Given the description of an element on the screen output the (x, y) to click on. 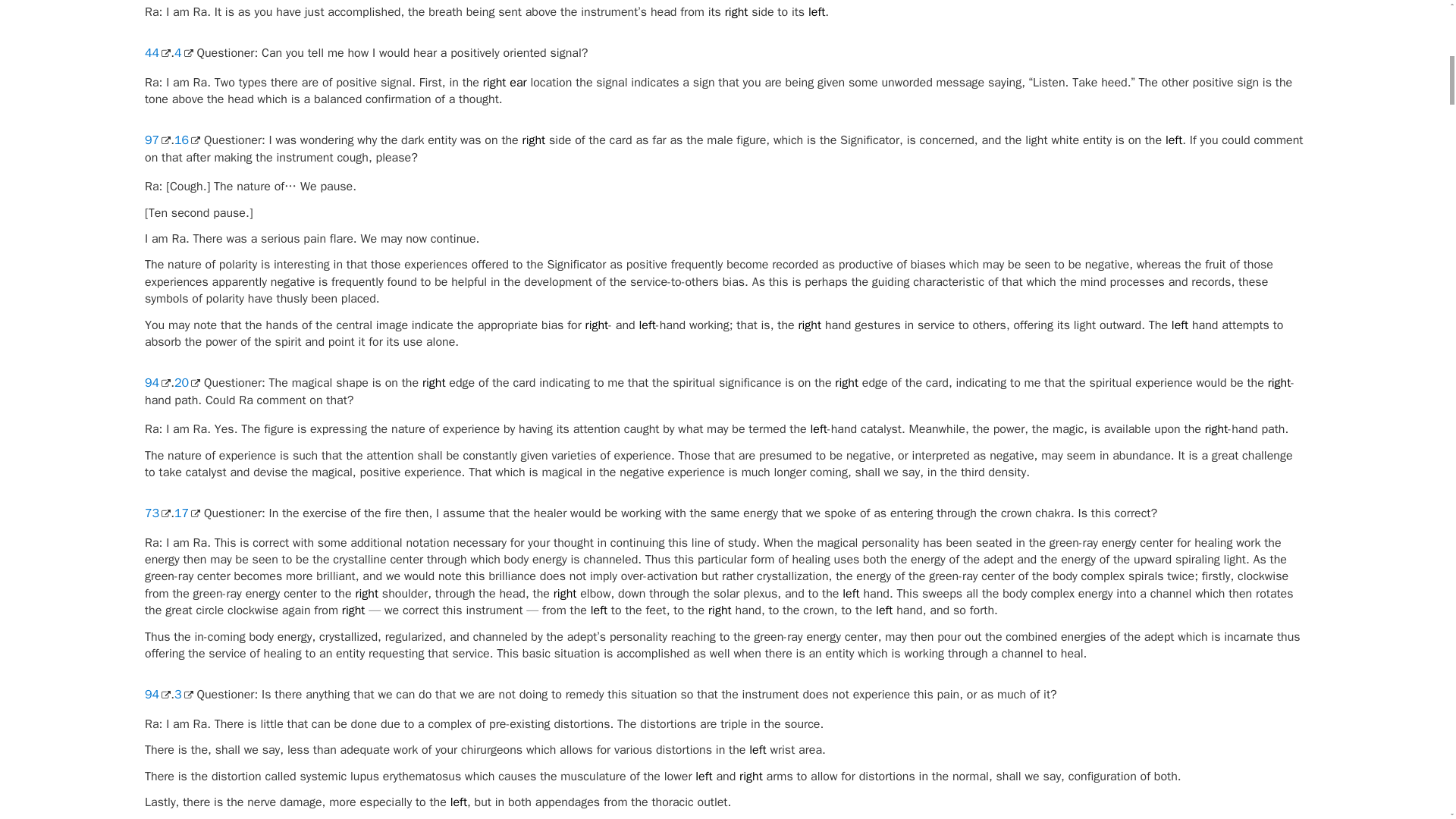
97 (157, 140)
44 (157, 52)
4 (183, 52)
